Given the description of an element on the screen output the (x, y) to click on. 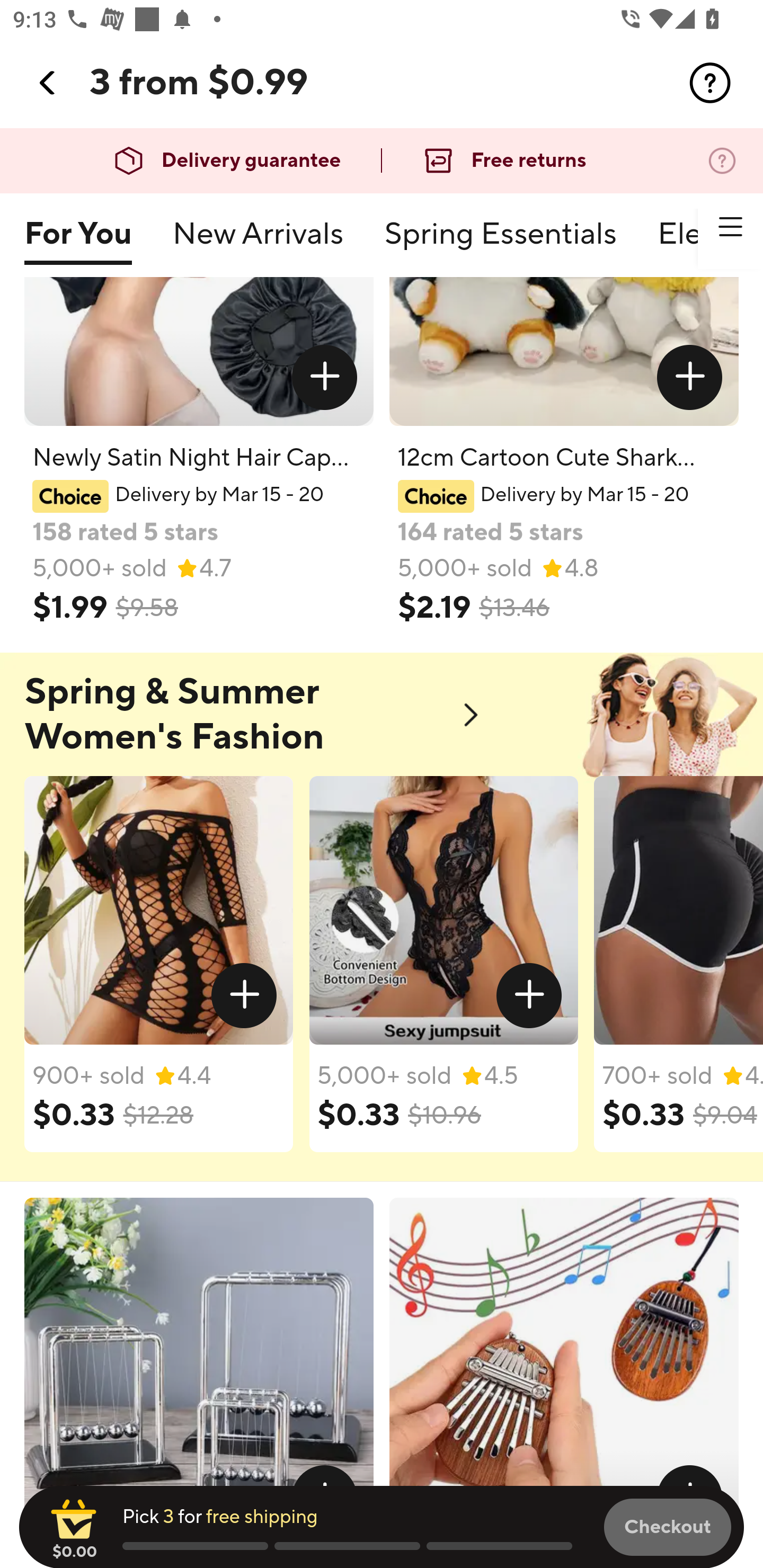
 (710, 82)
 (48, 82)
 (730, 226)
For You (77, 242)
New Arrivals (257, 242)
Spring Essentials (500, 242)
 (323, 376)
 (689, 376)
 (244, 995)
 (529, 995)
